Given the description of an element on the screen output the (x, y) to click on. 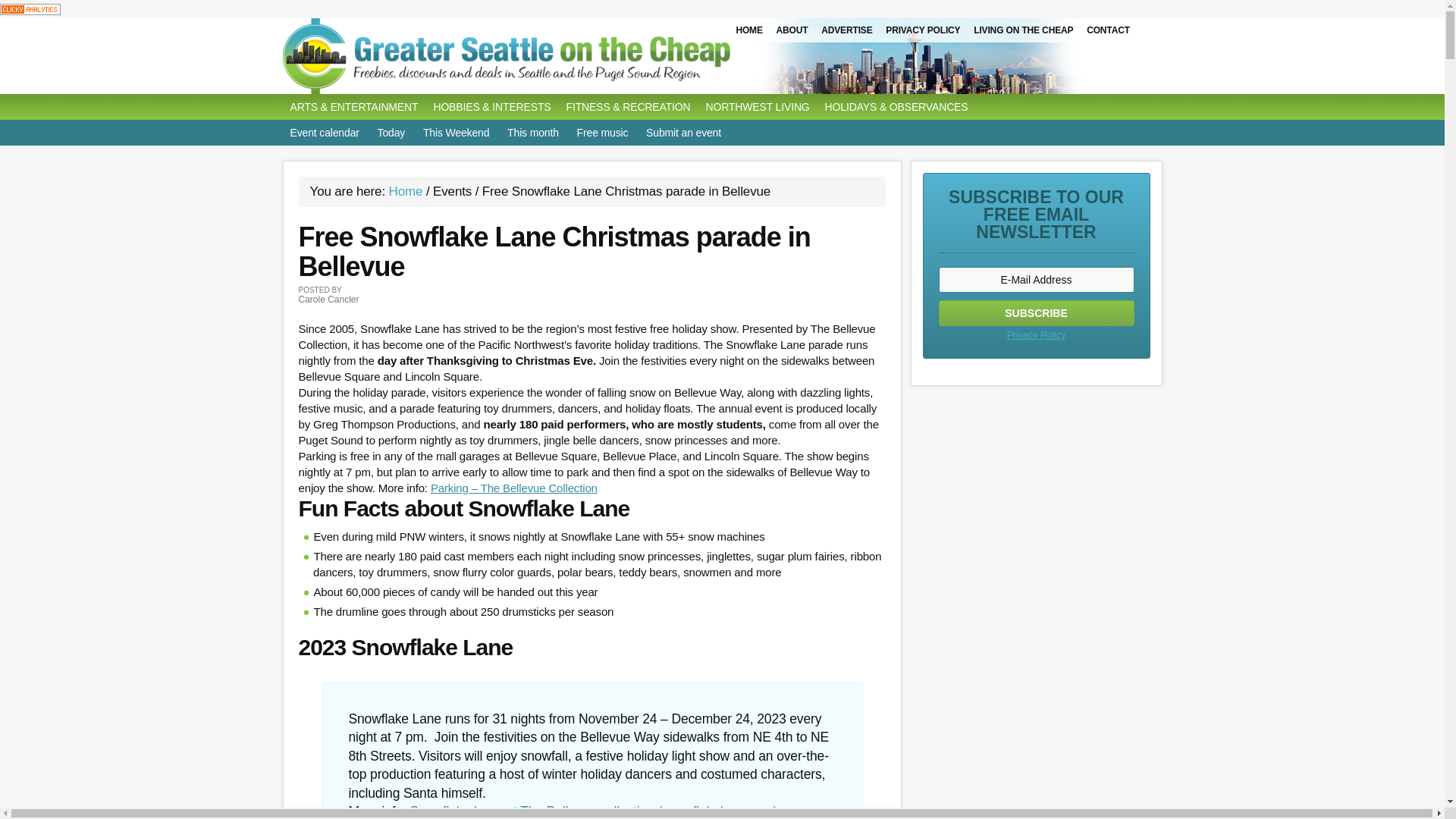
PRIVACY POLICY (922, 30)
Web Analytics (30, 8)
Subscribe (1036, 312)
CONTACT (1108, 30)
ABOUT (792, 30)
Greater Seattle on the Cheap (536, 56)
HOME (748, 30)
LIVING ON THE CHEAP (1023, 30)
ADVERTISE (846, 30)
